Given the description of an element on the screen output the (x, y) to click on. 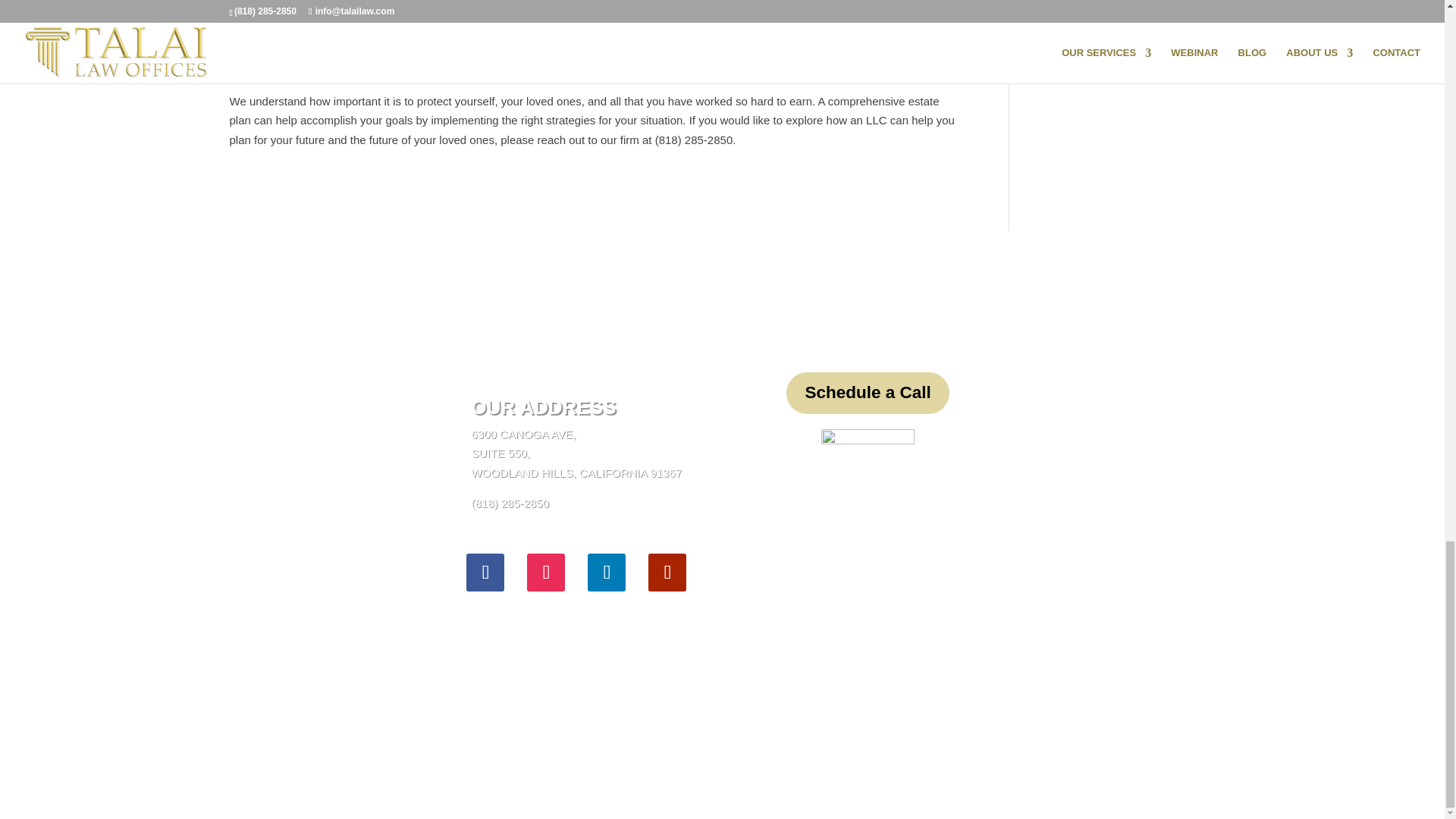
Follow on Instagram (545, 572)
Follow on Facebook (484, 572)
Schedule a Call (867, 392)
Column Logo (867, 481)
Follow on LinkedIn (607, 572)
Follow on Youtube (666, 572)
